Given the description of an element on the screen output the (x, y) to click on. 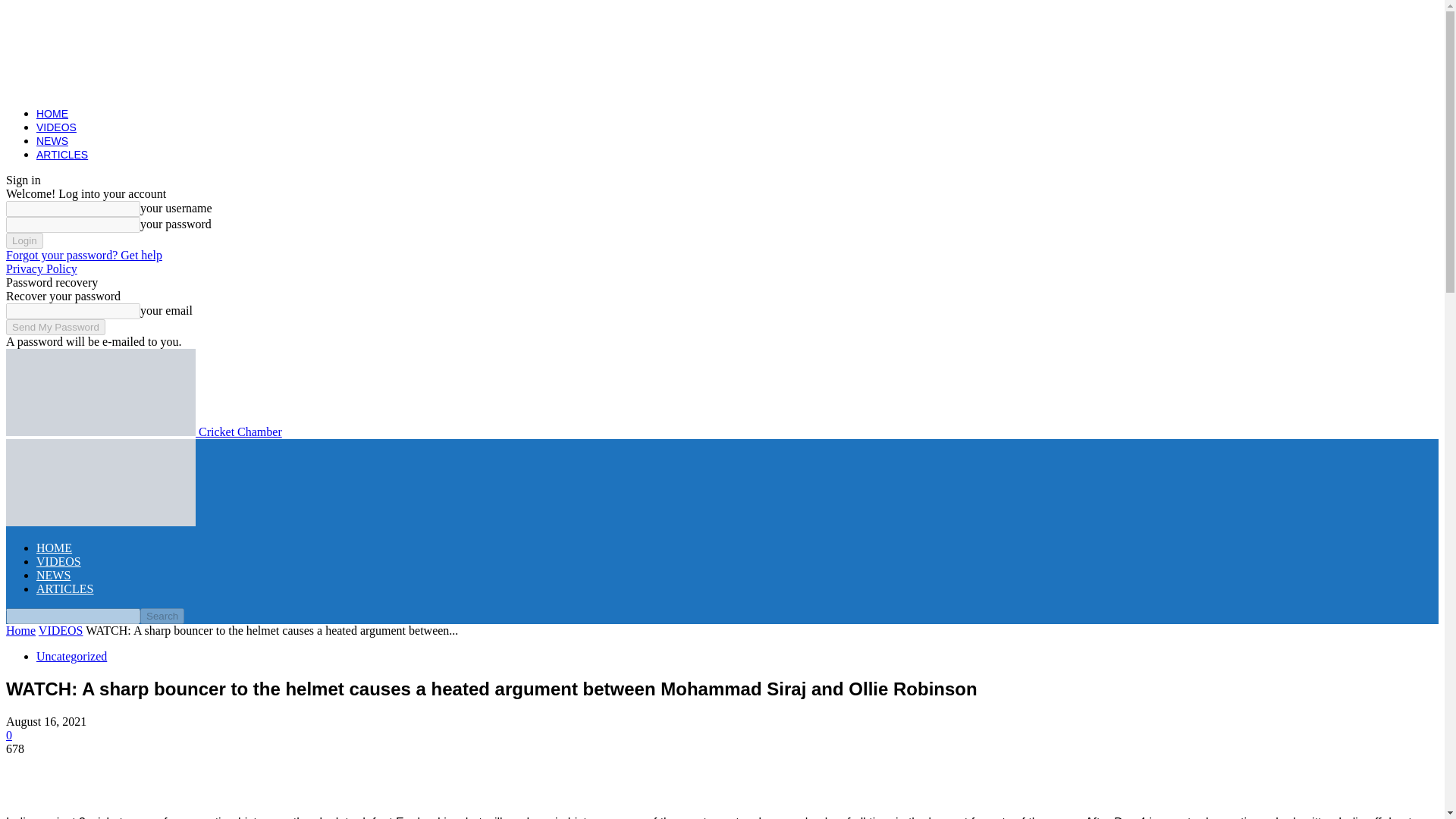
NEWS (52, 574)
Privacy Policy (41, 268)
Uncategorized (71, 656)
NEWS (52, 141)
ARTICLES (64, 588)
Search (161, 616)
Login (24, 240)
Cricket Chamber (143, 431)
Search (161, 616)
HOME (53, 547)
ARTICLES (61, 154)
VIDEOS (56, 127)
VIDEOS (58, 561)
Forgot your password? Get help (83, 254)
Home (19, 630)
